Given the description of an element on the screen output the (x, y) to click on. 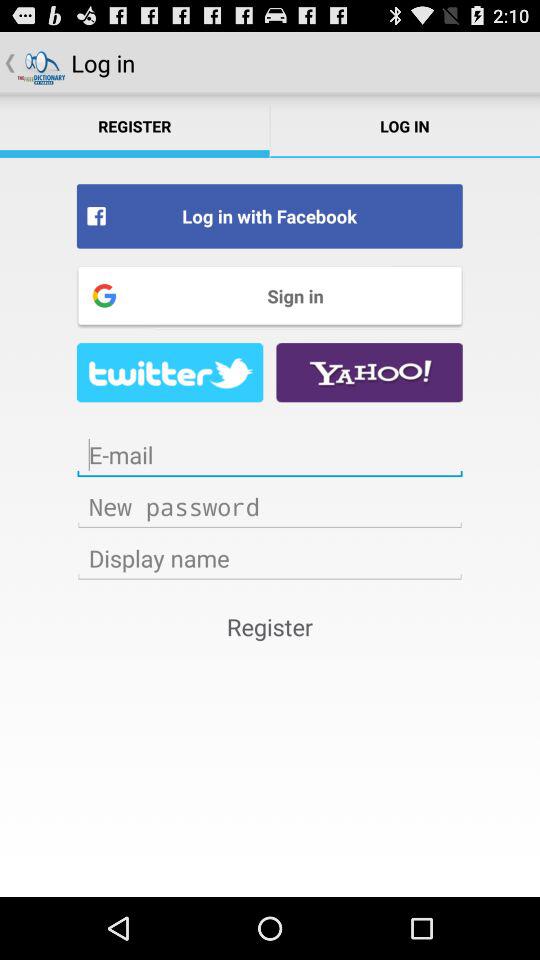
enter the email (269, 455)
